Given the description of an element on the screen output the (x, y) to click on. 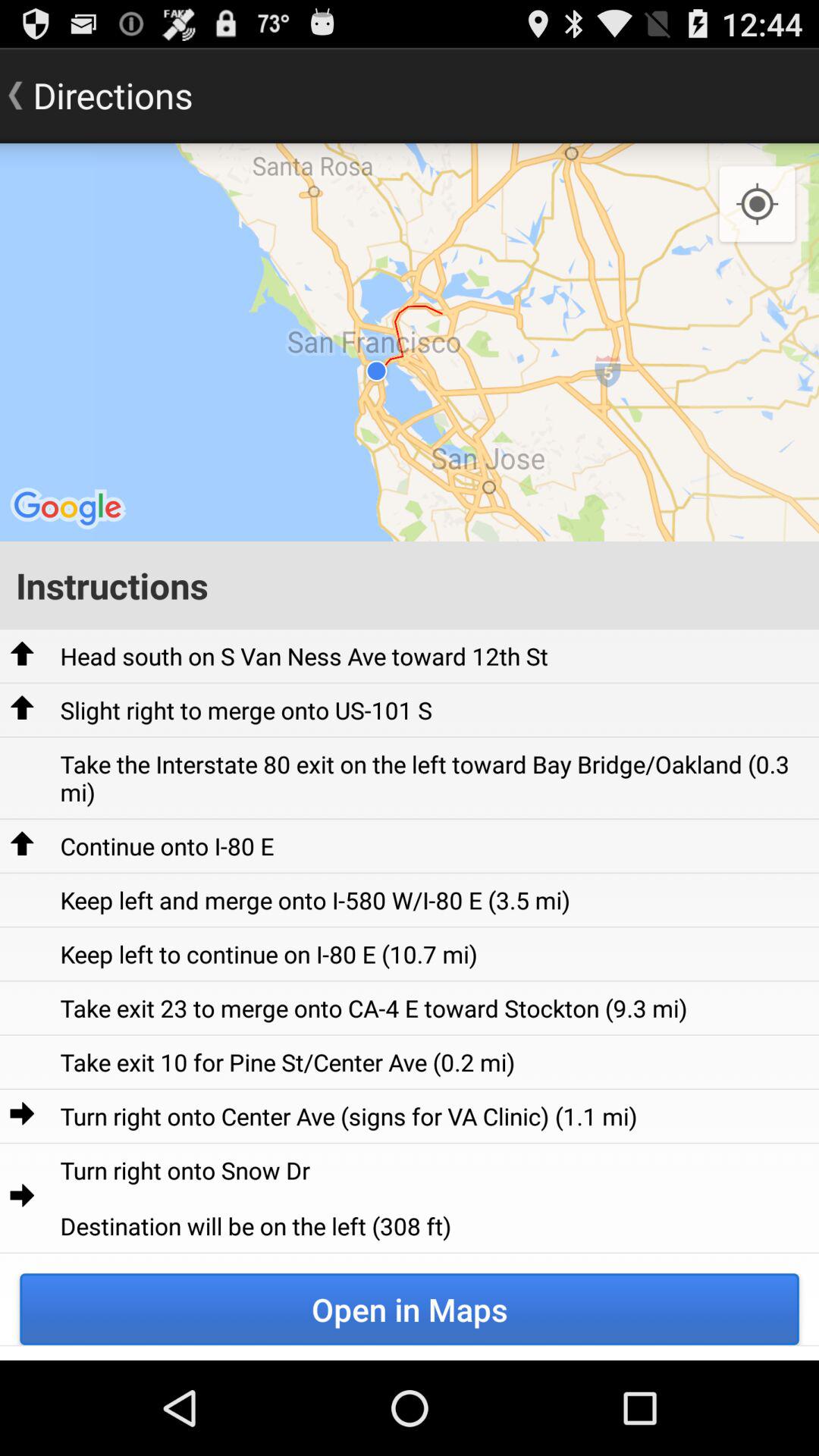
turn on open in maps button (409, 1309)
